Given the description of an element on the screen output the (x, y) to click on. 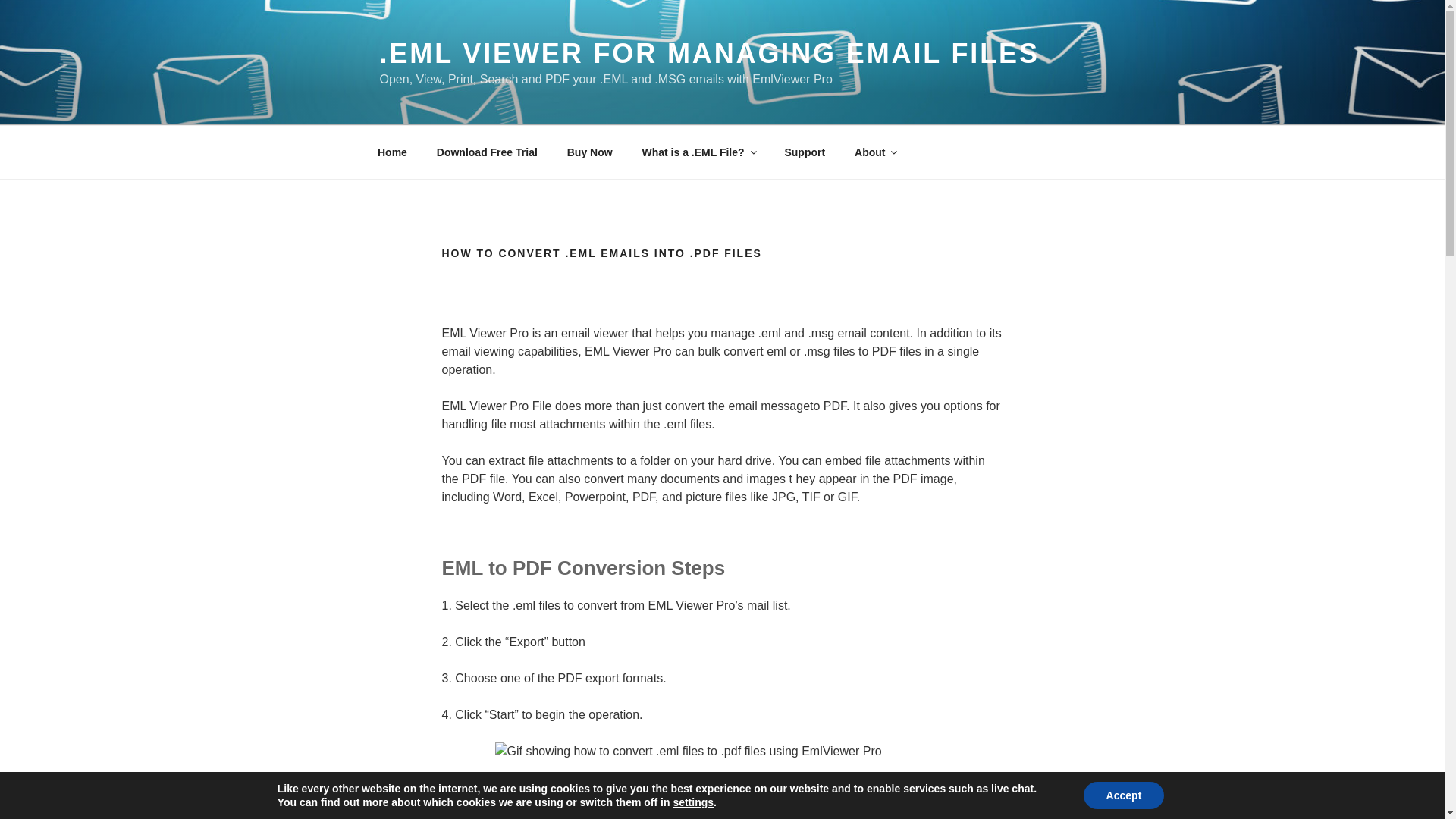
Buy Now (589, 151)
Support (804, 151)
Live Chat Button (29, 747)
Home (392, 151)
About (874, 151)
Download Free Trial (486, 151)
Accept (1123, 795)
settings (692, 802)
What is a .EML File? (698, 151)
.EML VIEWER FOR MANAGING EMAIL FILES (708, 52)
